Given the description of an element on the screen output the (x, y) to click on. 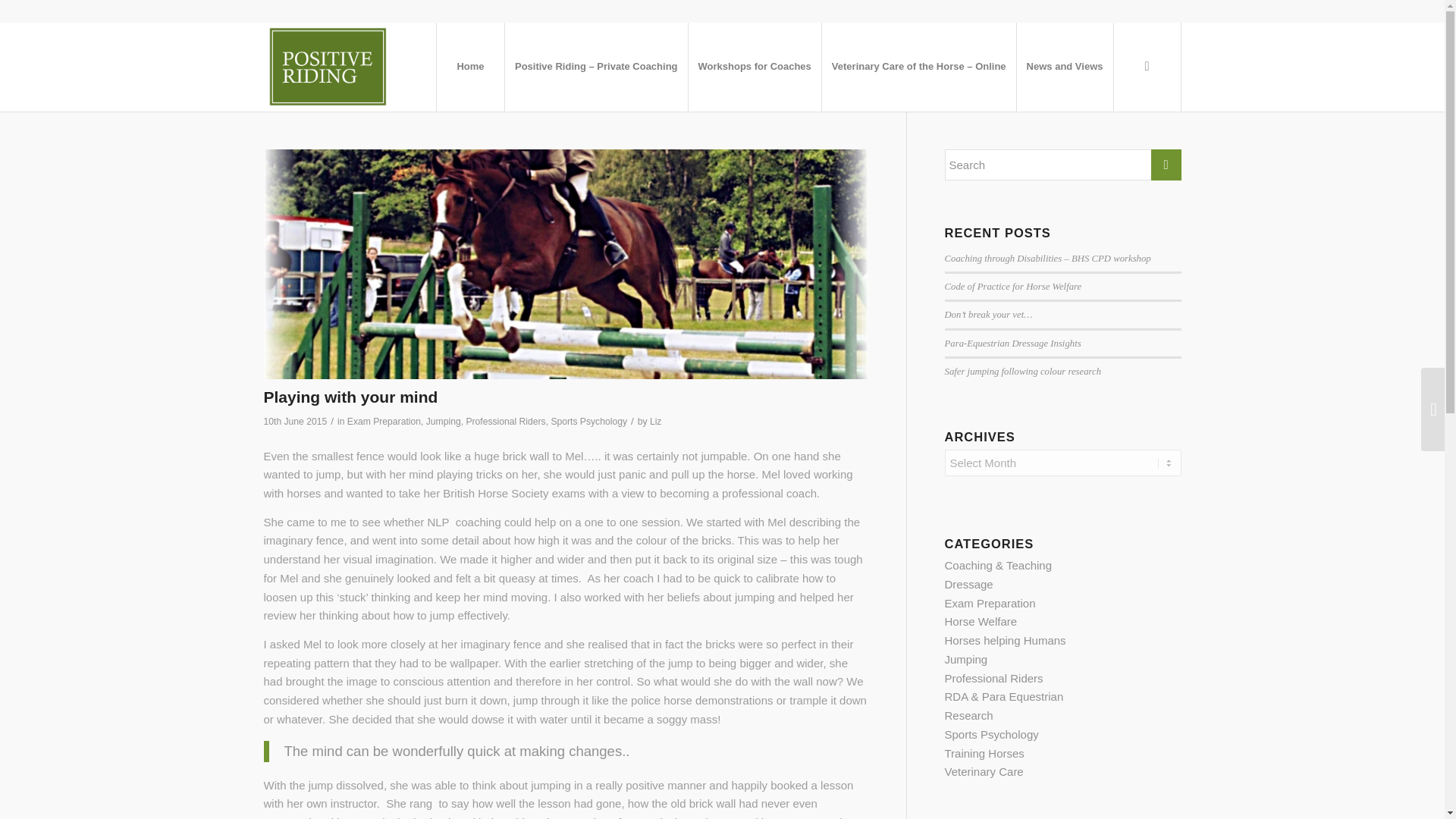
Posts by Liz (655, 421)
Sports Psychology (588, 421)
News and Views (1064, 66)
Jumping (443, 421)
Positive-Riding-Logo-4 (328, 66)
Code of Practice for Horse Welfare (1012, 286)
Workshops for Coaches (754, 66)
Professional Riders (504, 421)
Liz (655, 421)
Exam Preparation (383, 421)
